Given the description of an element on the screen output the (x, y) to click on. 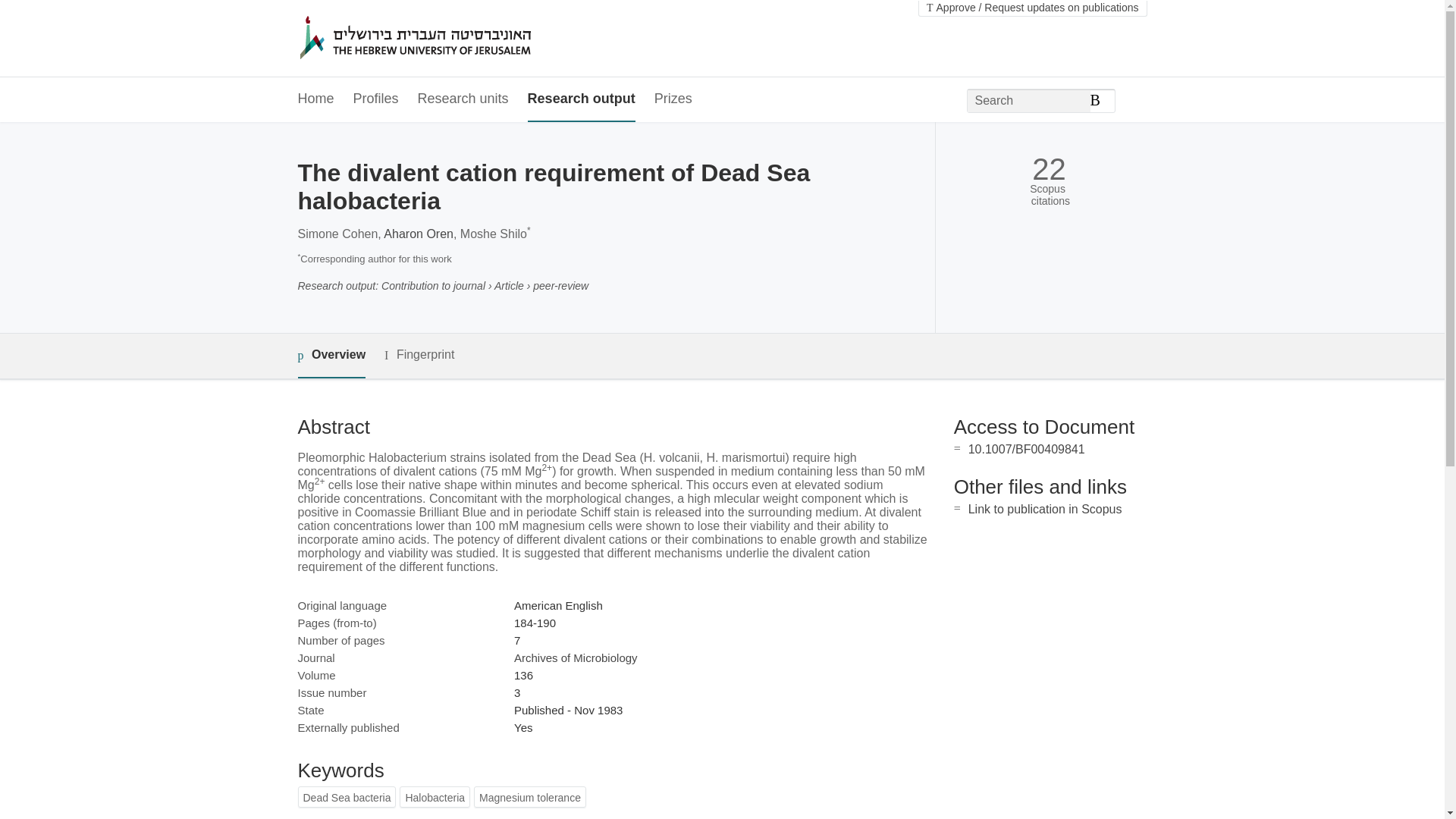
Fingerprint (419, 354)
Link to publication in Scopus (1045, 508)
Aharon Oren (418, 233)
Profiles (375, 99)
Research units (462, 99)
Archives of Microbiology (575, 657)
Prizes (673, 99)
The Hebrew University of Jerusalem Home (447, 38)
Research output (580, 99)
Home (315, 99)
Overview (331, 355)
